Given the description of an element on the screen output the (x, y) to click on. 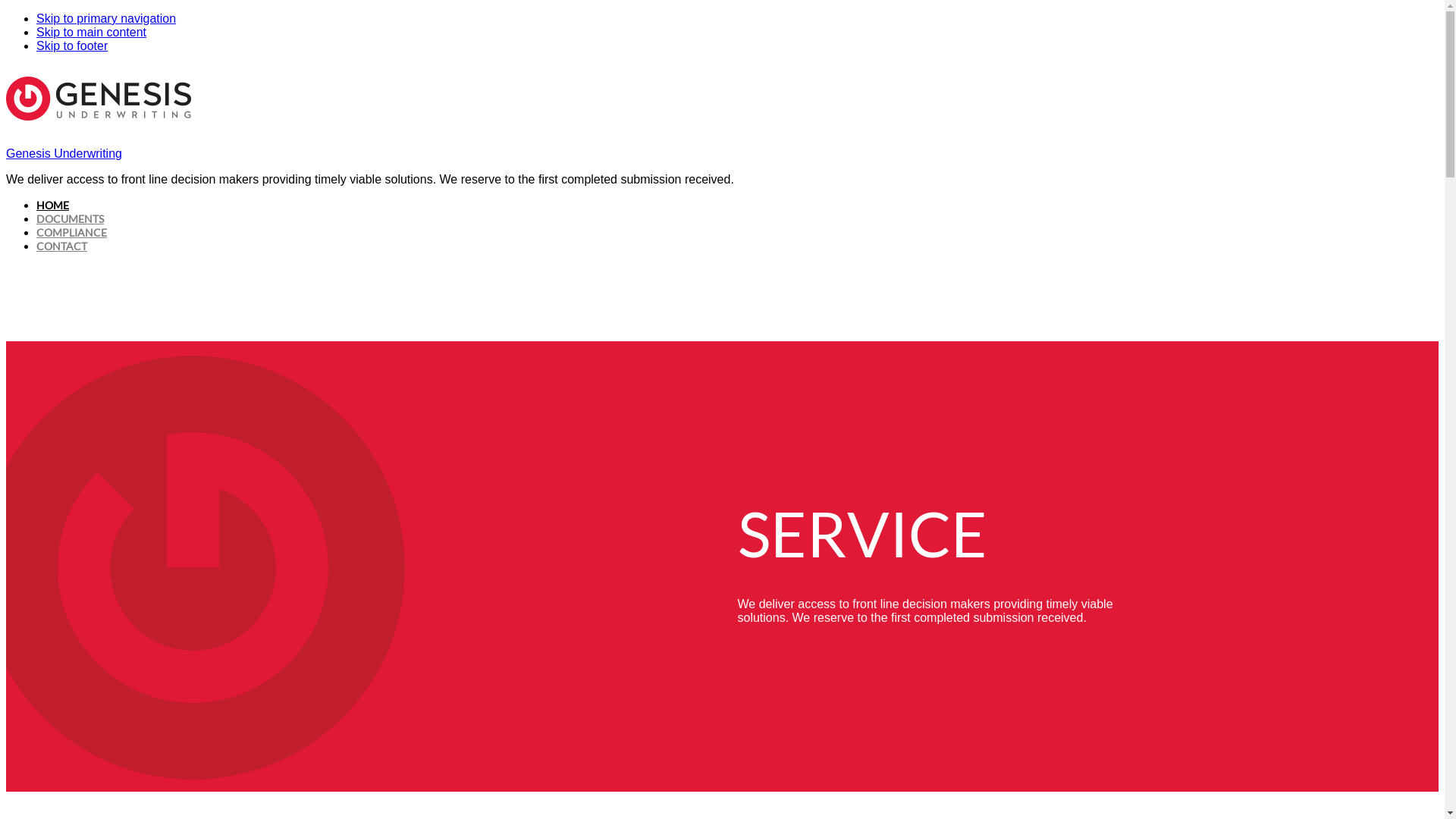
CONTACT Element type: text (61, 245)
Skip to primary navigation Element type: text (105, 18)
COMPLIANCE Element type: text (71, 231)
Skip to main content Element type: text (91, 31)
HOME Element type: text (52, 204)
Genesis Underwriting Element type: text (64, 153)
Skip to footer Element type: text (71, 45)
DOCUMENTS Element type: text (69, 218)
